Given the description of an element on the screen output the (x, y) to click on. 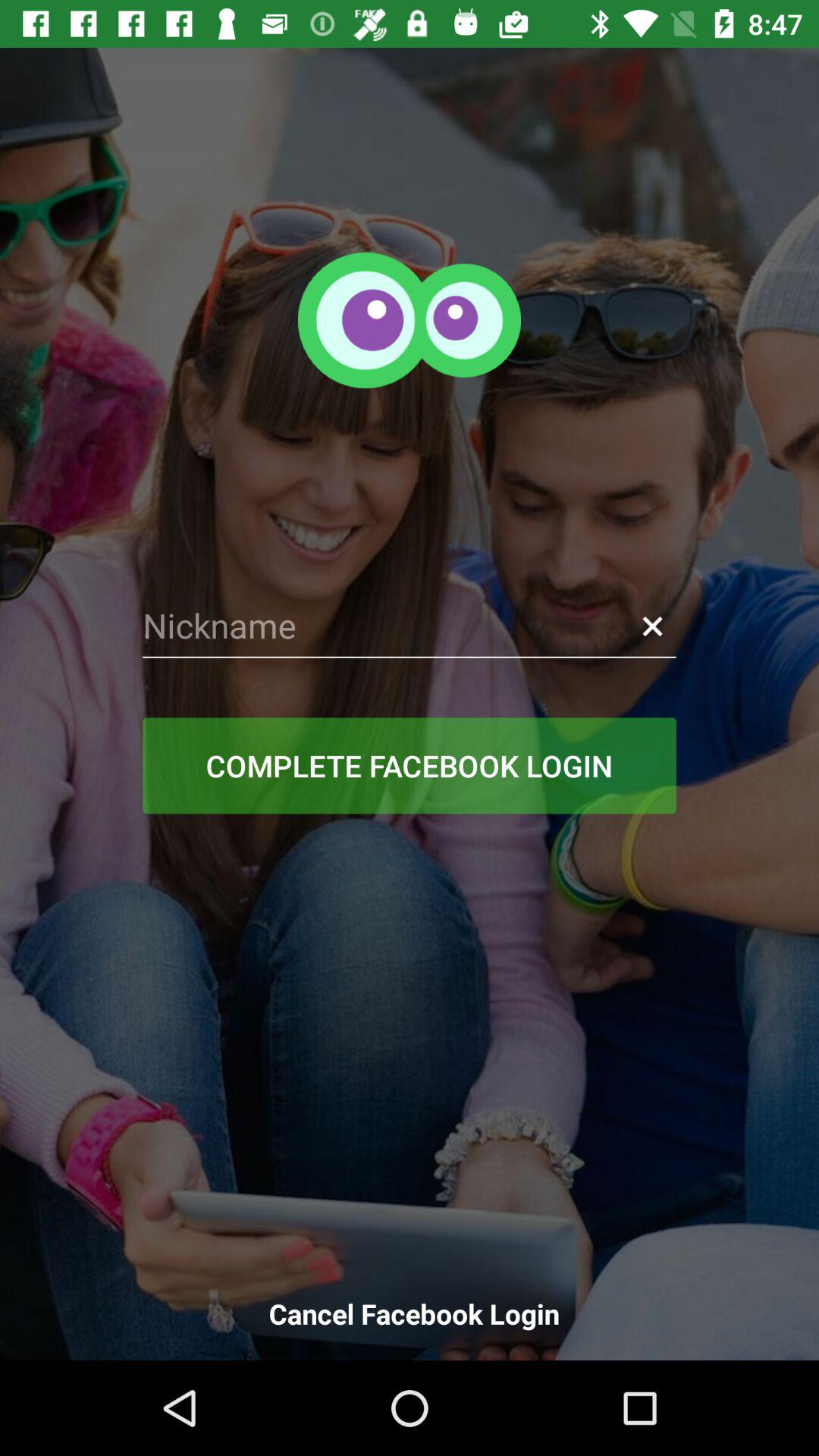
open icon above the complete facebook login icon (409, 626)
